Given the description of an element on the screen output the (x, y) to click on. 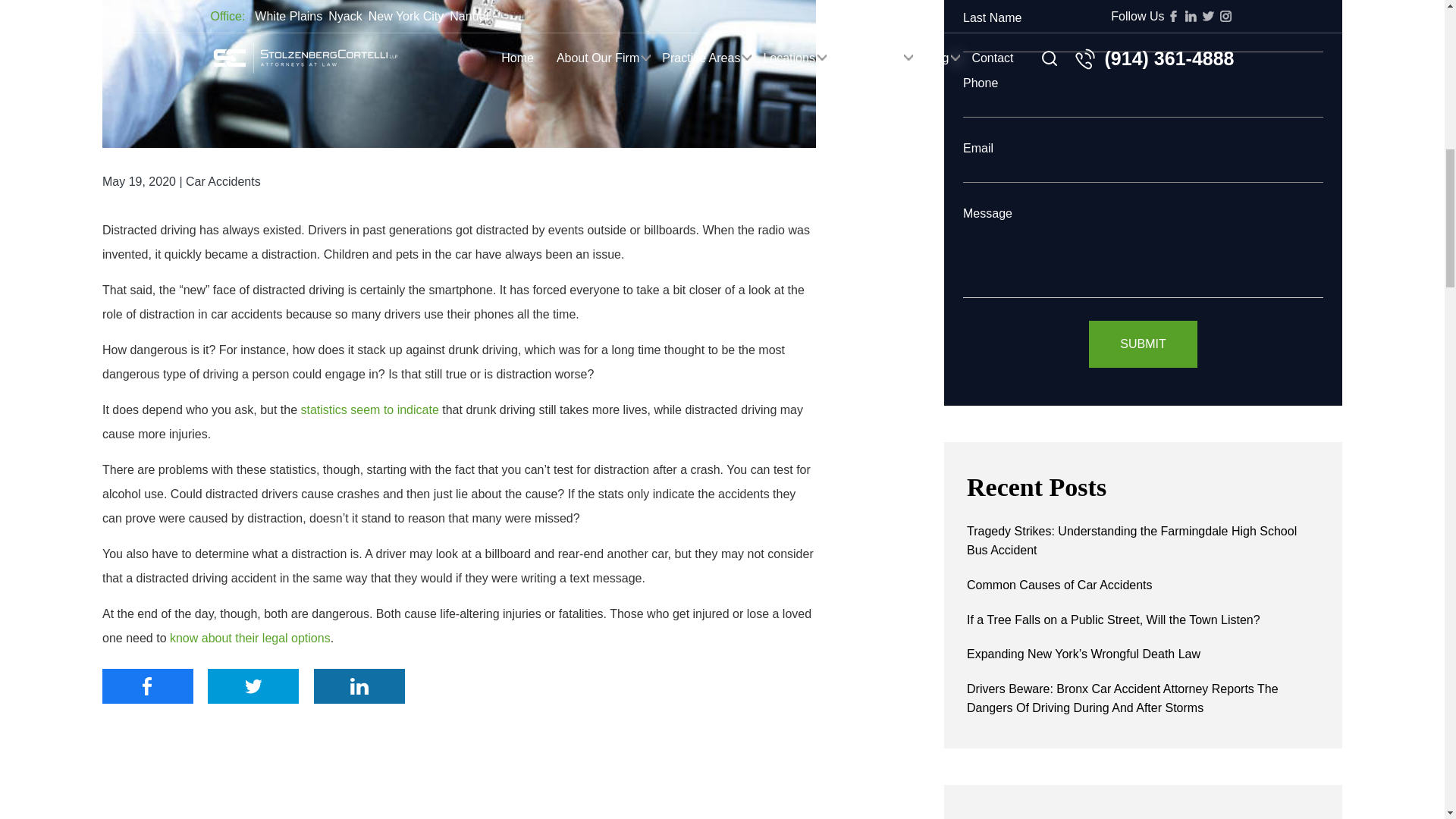
Submit (1142, 344)
